Given the description of an element on the screen output the (x, y) to click on. 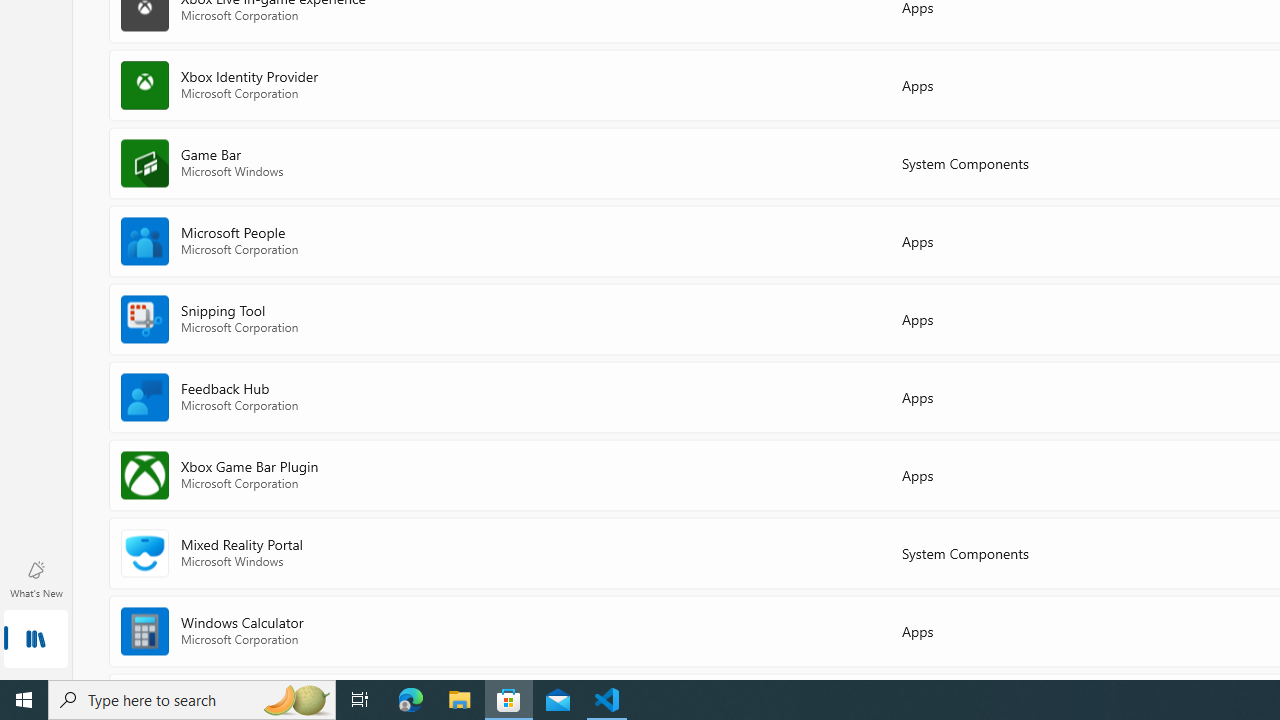
Library (35, 640)
What's New (35, 578)
